Given the description of an element on the screen output the (x, y) to click on. 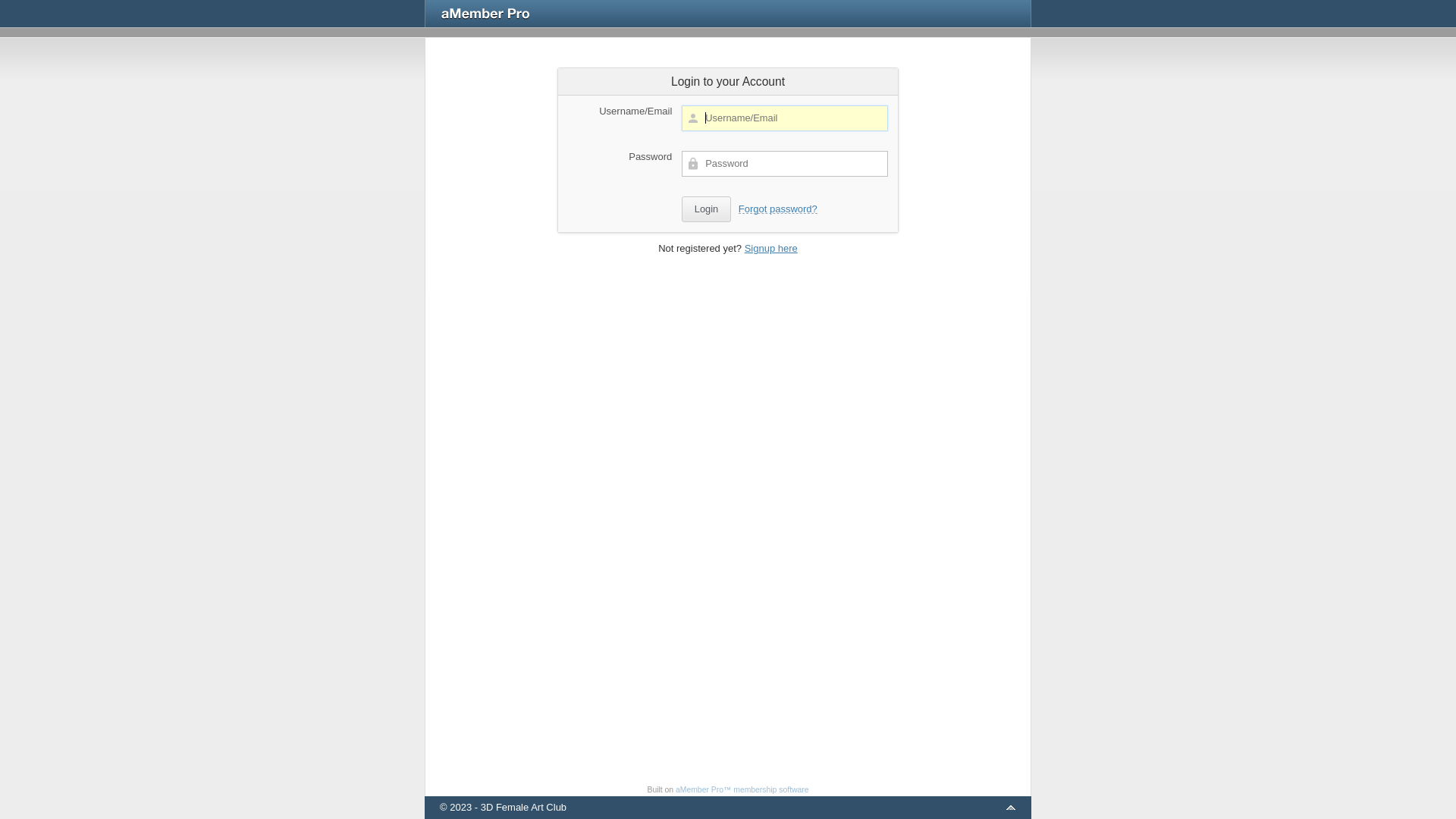
Login Element type: text (705, 209)
Signup here Element type: text (770, 248)
Forgot password? Element type: text (777, 208)
